Given the description of an element on the screen output the (x, y) to click on. 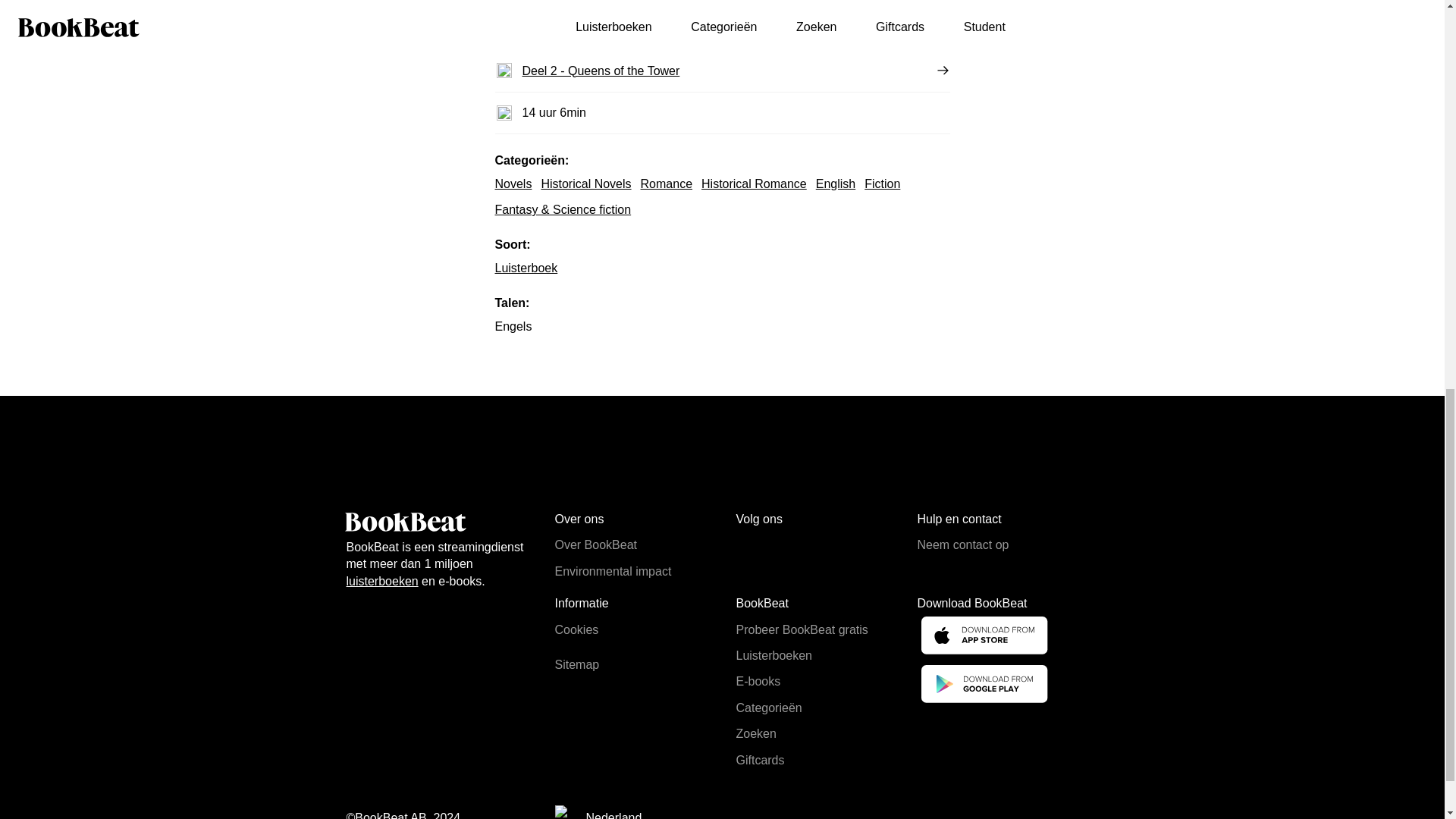
Google Play icon (983, 685)
Over BookBeat (595, 544)
Zoeken (755, 733)
Joanna Hickson (722, 4)
Environmental impact (612, 571)
Romance (666, 184)
Sitemap (576, 664)
Fiction (881, 184)
App store icon (983, 636)
Historical Romance (753, 184)
